Given the description of an element on the screen output the (x, y) to click on. 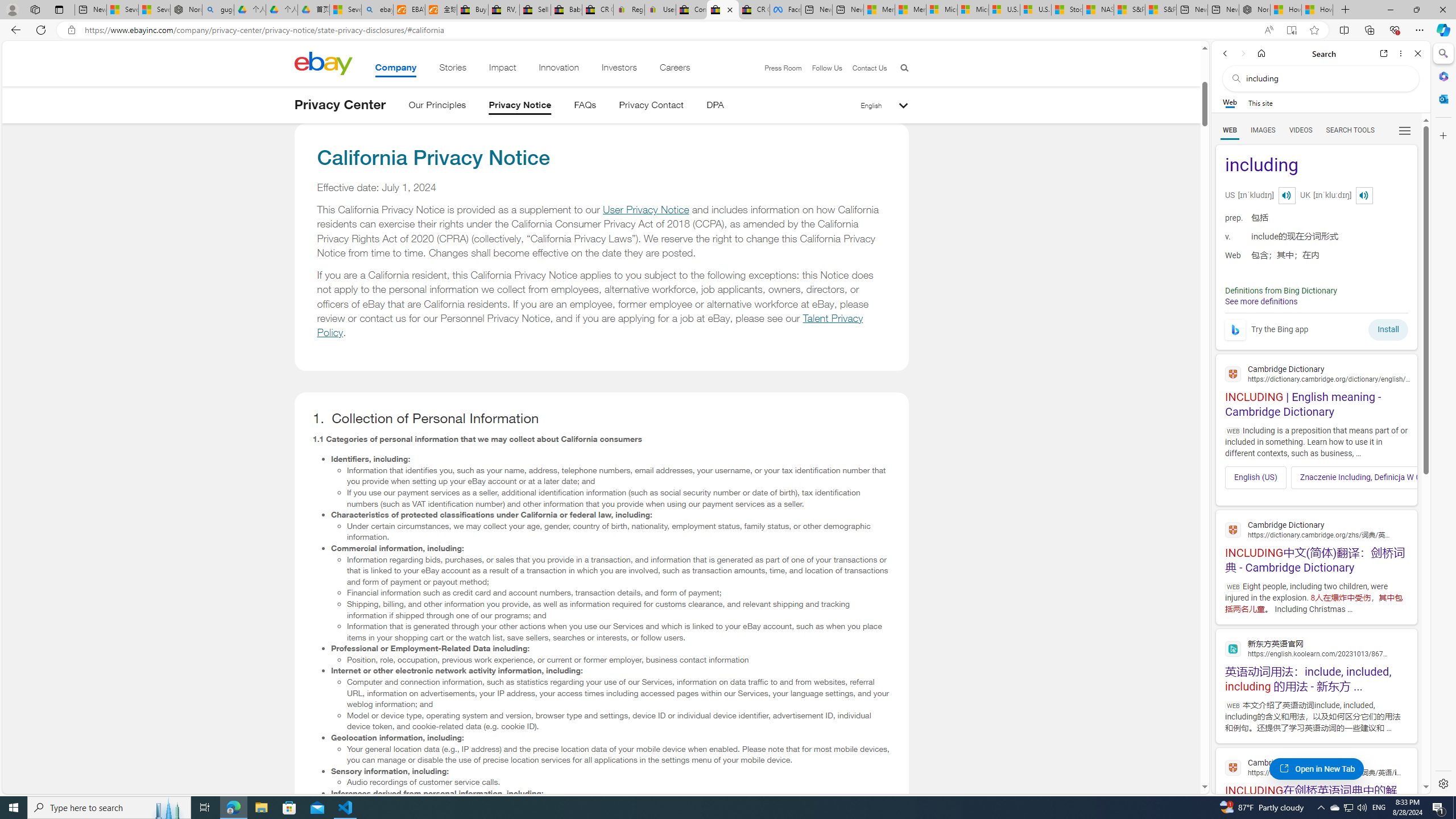
WEB   (1230, 130)
Cambridge Dictionary (1315, 766)
Privacy Notice (520, 107)
How to Use a Monitor With Your Closed Laptop (1317, 9)
English (US) (1255, 477)
Preferences (1403, 129)
